Given the description of an element on the screen output the (x, y) to click on. 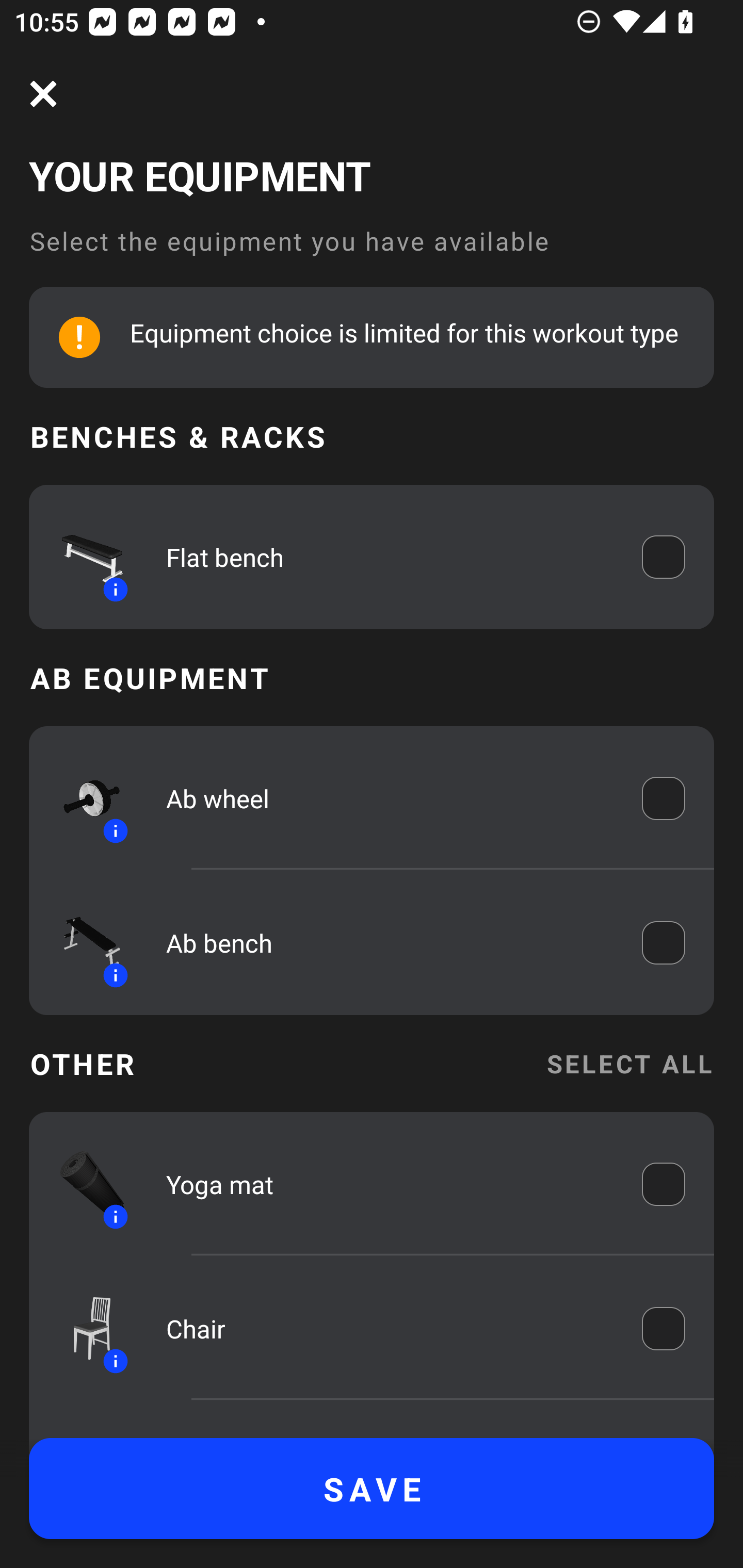
Navigation icon (43, 93)
Equipment icon Information icon (82, 557)
Flat bench (389, 557)
Equipment icon Information icon (82, 798)
Ab wheel (389, 798)
Equipment icon Information icon (82, 943)
Ab bench (389, 943)
SELECT ALL (629, 1063)
Equipment icon Information icon (82, 1184)
Yoga mat (389, 1184)
Equipment icon Information icon (82, 1328)
Chair (389, 1328)
SAVE (371, 1488)
